Given the description of an element on the screen output the (x, y) to click on. 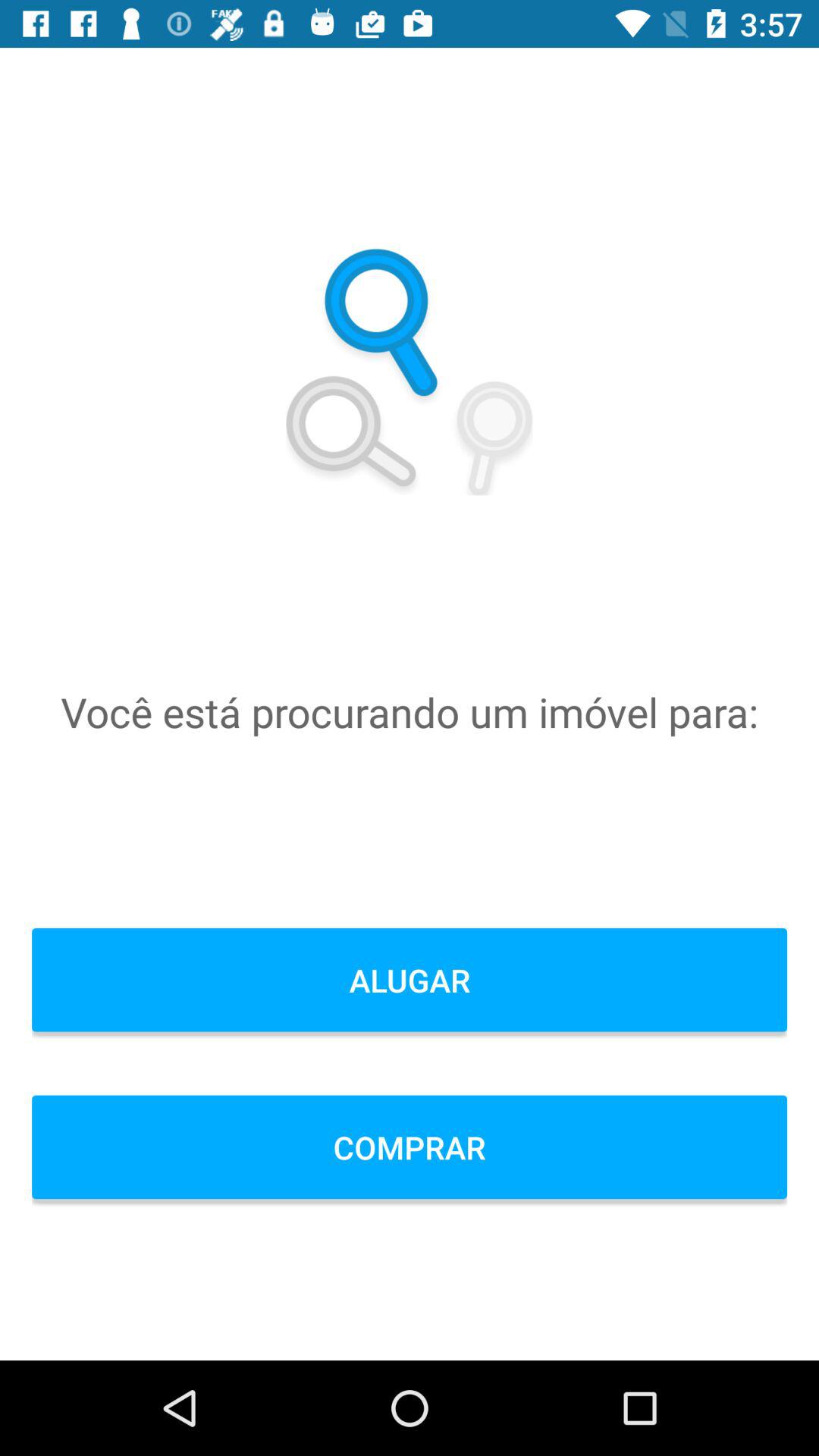
click alugar icon (409, 979)
